Given the description of an element on the screen output the (x, y) to click on. 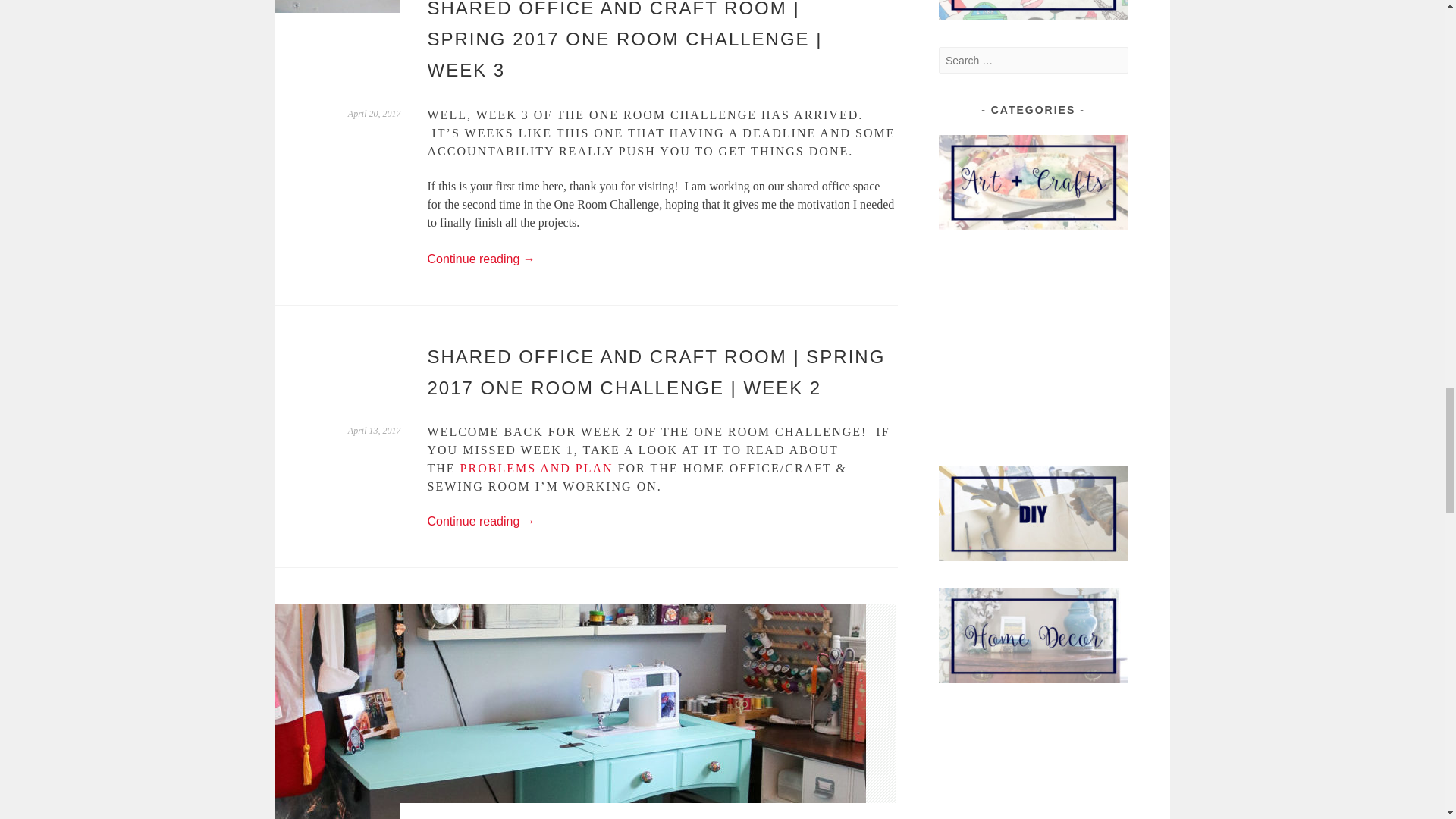
Advertisement (1033, 347)
April 20, 2017 (374, 113)
April 13, 2017 (374, 430)
Advertisement (1033, 764)
Visit my Spoonflower shop! (1033, 9)
CATEGORIES (1033, 182)
PROBLEMS AND PLAN (536, 468)
